Given the description of an element on the screen output the (x, y) to click on. 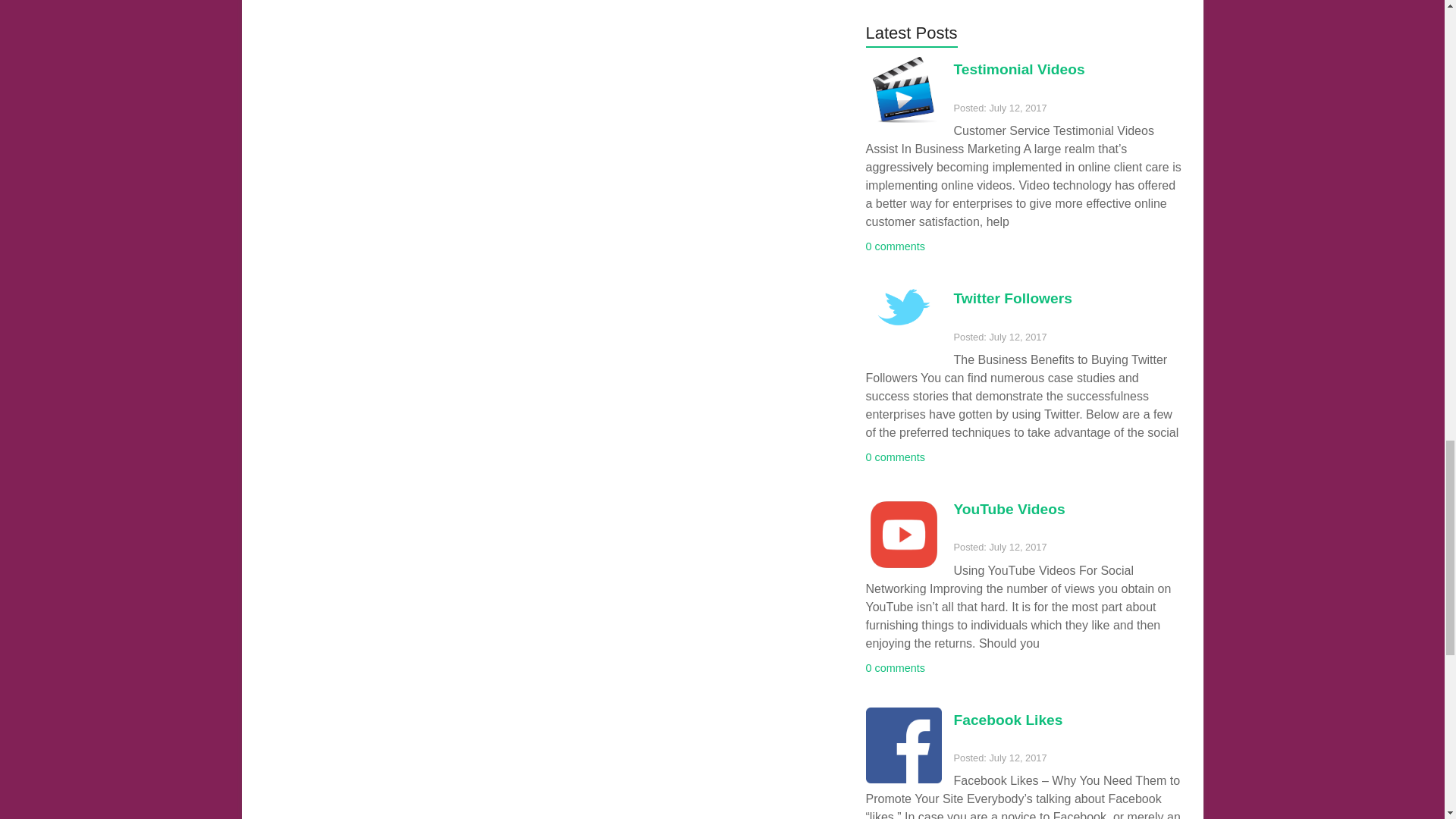
0 comments (895, 246)
Facebook Likes (1007, 719)
Testimonial Videos (1018, 68)
Twitter Followers (1012, 298)
YouTube Videos (1009, 508)
0 comments (895, 457)
0 comments (895, 667)
